Given the description of an element on the screen output the (x, y) to click on. 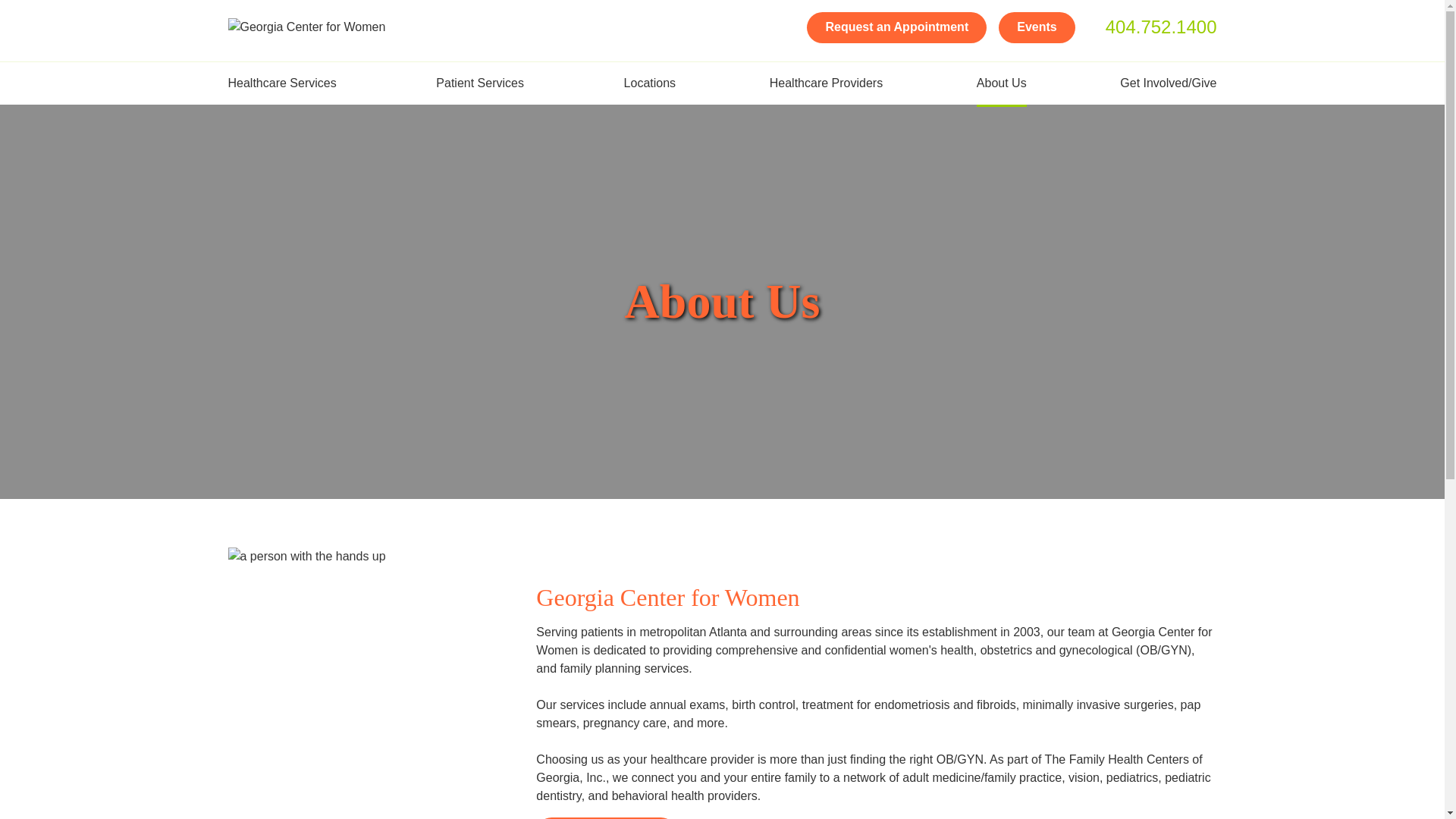
About Us (1001, 83)
Request an Appointment (896, 27)
Events (1036, 27)
Locations (649, 83)
404.752.1400 (1152, 26)
Patient Services (482, 83)
Healthcare Providers (826, 83)
Healthcare Services (284, 83)
